Given the description of an element on the screen output the (x, y) to click on. 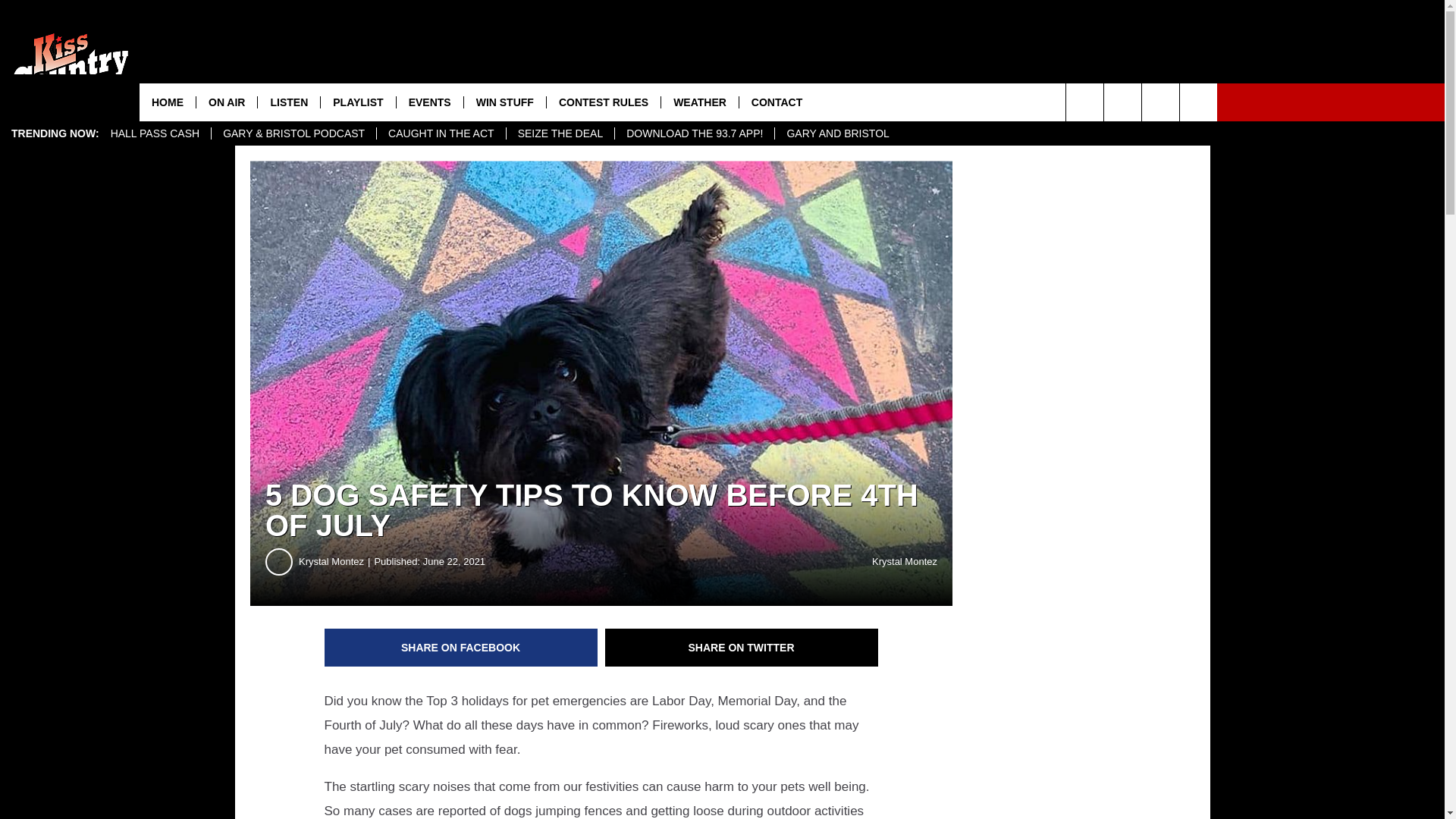
HOME (167, 102)
CONTEST RULES (603, 102)
LISTEN (288, 102)
WIN STUFF (504, 102)
PLAYLIST (357, 102)
ON AIR (226, 102)
WEATHER (699, 102)
SEIZE THE DEAL (559, 133)
HALL PASS CASH (155, 133)
Share on Twitter (741, 647)
